Given the description of an element on the screen output the (x, y) to click on. 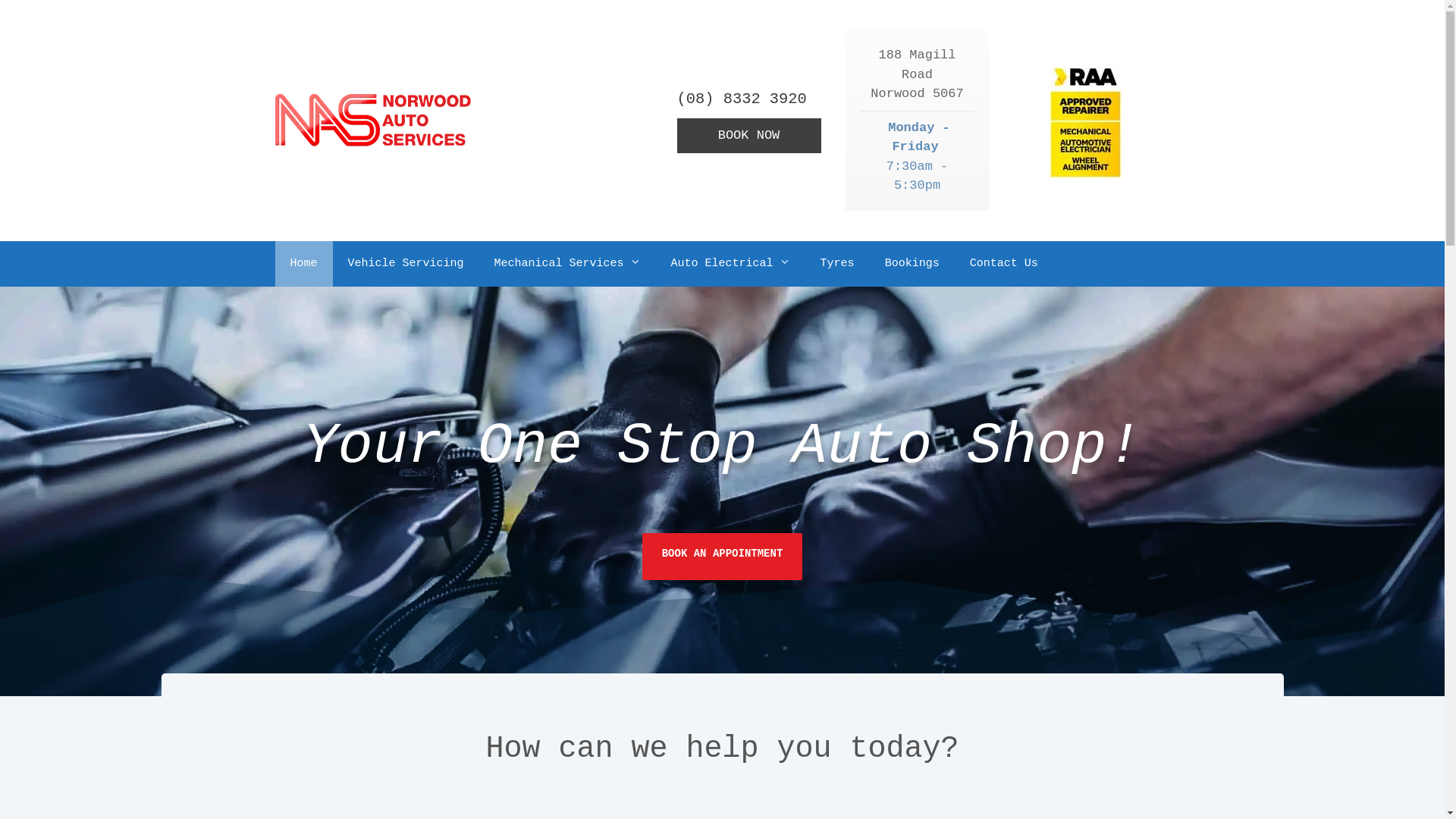
BOOK AN APPOINTMENT Element type: text (722, 556)
Vehicle Servicing Element type: text (405, 263)
Bookings Element type: text (911, 263)
Auto Electrical Element type: text (730, 263)
Home Element type: text (303, 263)
BOOK NOW Element type: text (748, 135)
(08) 8332 3920 Element type: text (748, 99)
Mechanical Services Element type: text (567, 263)
Tyres Element type: text (837, 263)
Contact Us Element type: text (1003, 263)
